Given the description of an element on the screen output the (x, y) to click on. 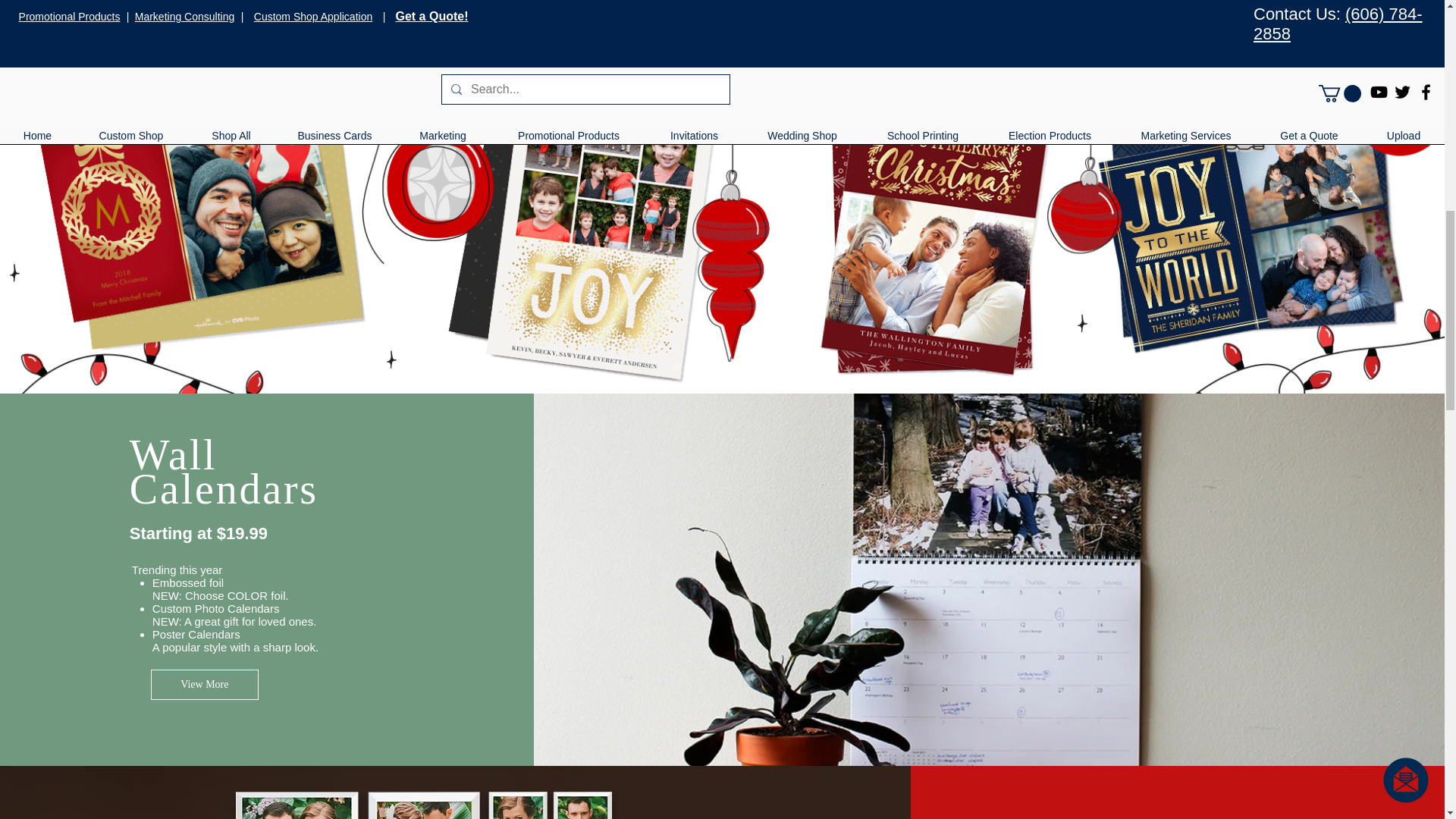
View More (205, 684)
Shop Folded Cards (1119, 1)
